Given the description of an element on the screen output the (x, y) to click on. 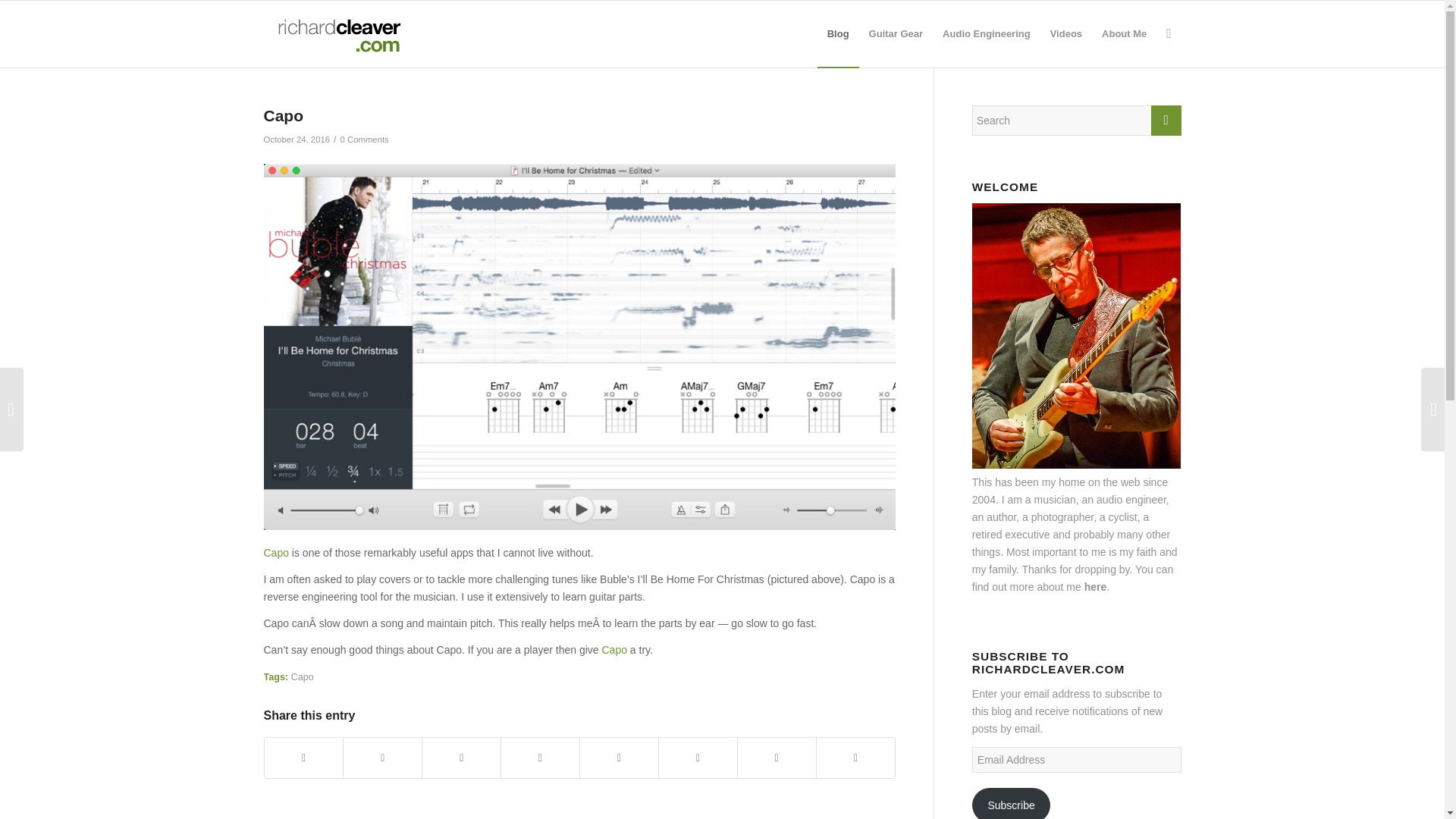
About Me (1124, 33)
rcdotcomlogo (336, 33)
here (1095, 586)
Audio Engineering (987, 33)
Capo (613, 649)
Capo (275, 552)
Capo (302, 676)
Guitar Gear (896, 33)
0 Comments (364, 139)
Subscribe (1011, 803)
